Given the description of an element on the screen output the (x, y) to click on. 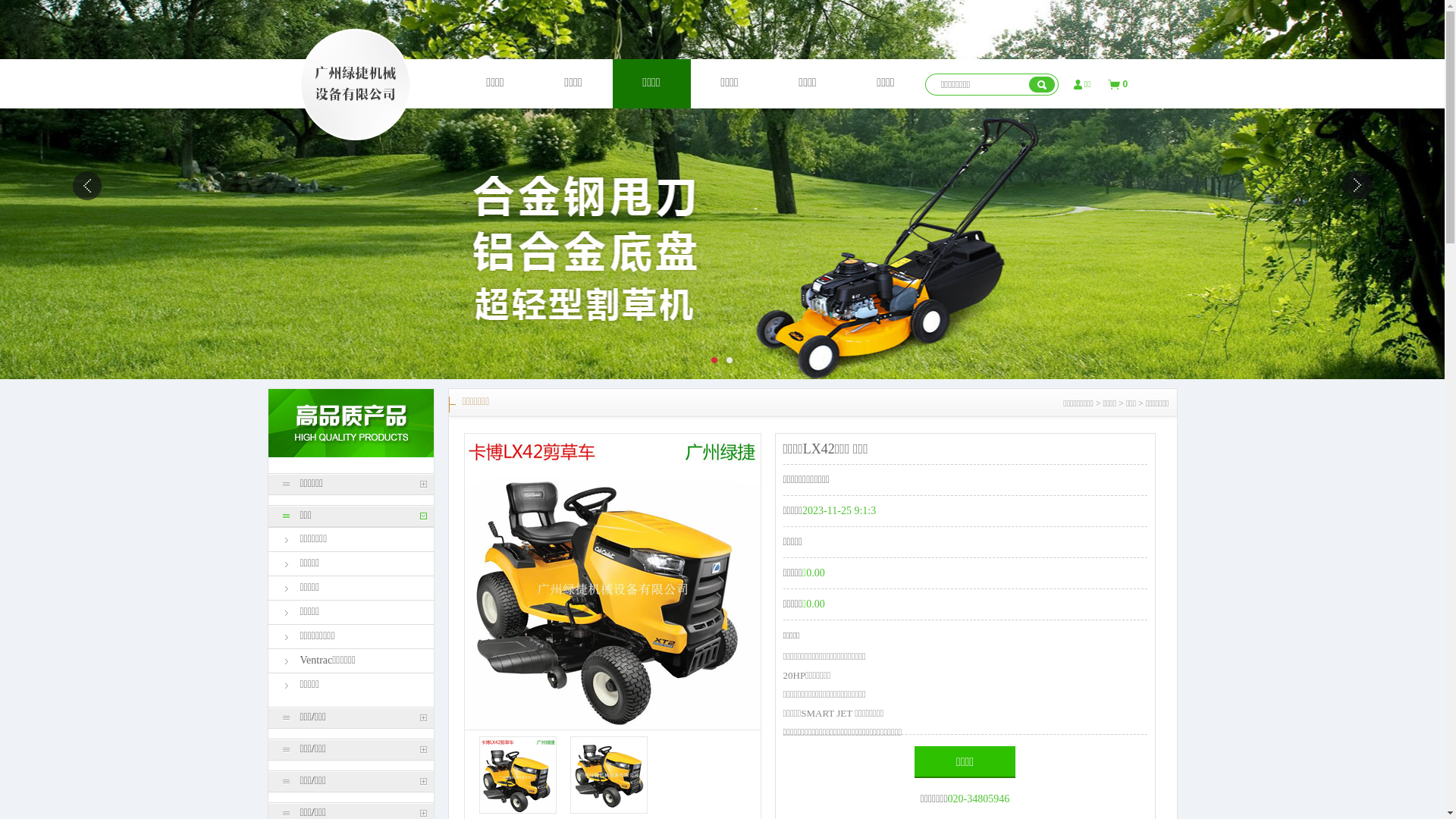
0 Element type: text (1119, 84)
Logo Element type: hover (354, 84)
